Given the description of an element on the screen output the (x, y) to click on. 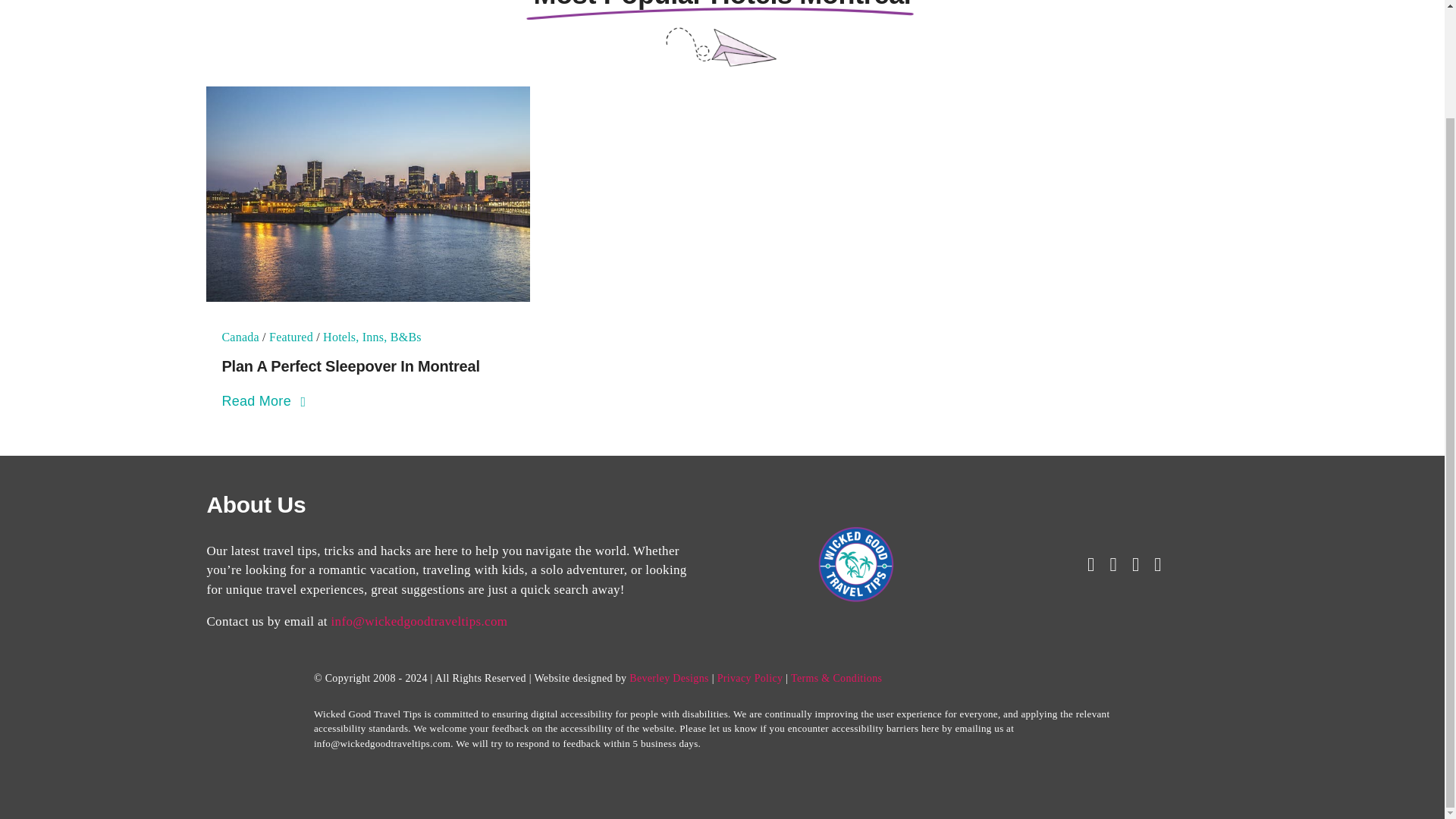
Favicon (855, 563)
paper-plane2 (721, 48)
Featured (291, 336)
Canada (240, 336)
